Given the description of an element on the screen output the (x, y) to click on. 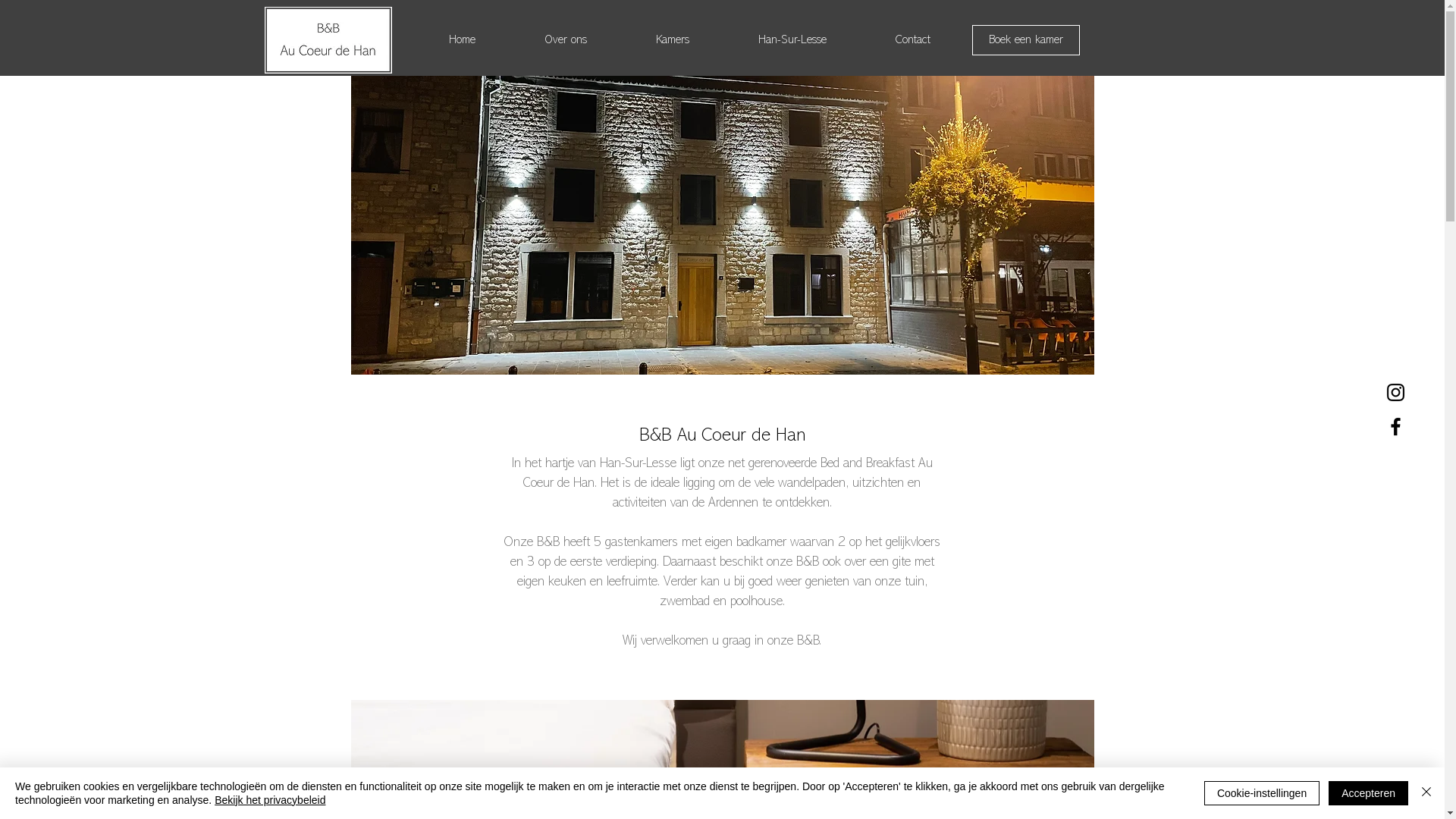
Kamers Element type: text (672, 40)
Boek een kamer Element type: text (1025, 40)
Cookie-instellingen Element type: text (1261, 793)
Contact Element type: text (913, 40)
Home Element type: text (461, 40)
Bekijk het privacybeleid Element type: text (269, 799)
Over ons Element type: text (565, 40)
Accepteren Element type: text (1368, 793)
Han-Sur-Lesse Element type: text (791, 40)
